Given the description of an element on the screen output the (x, y) to click on. 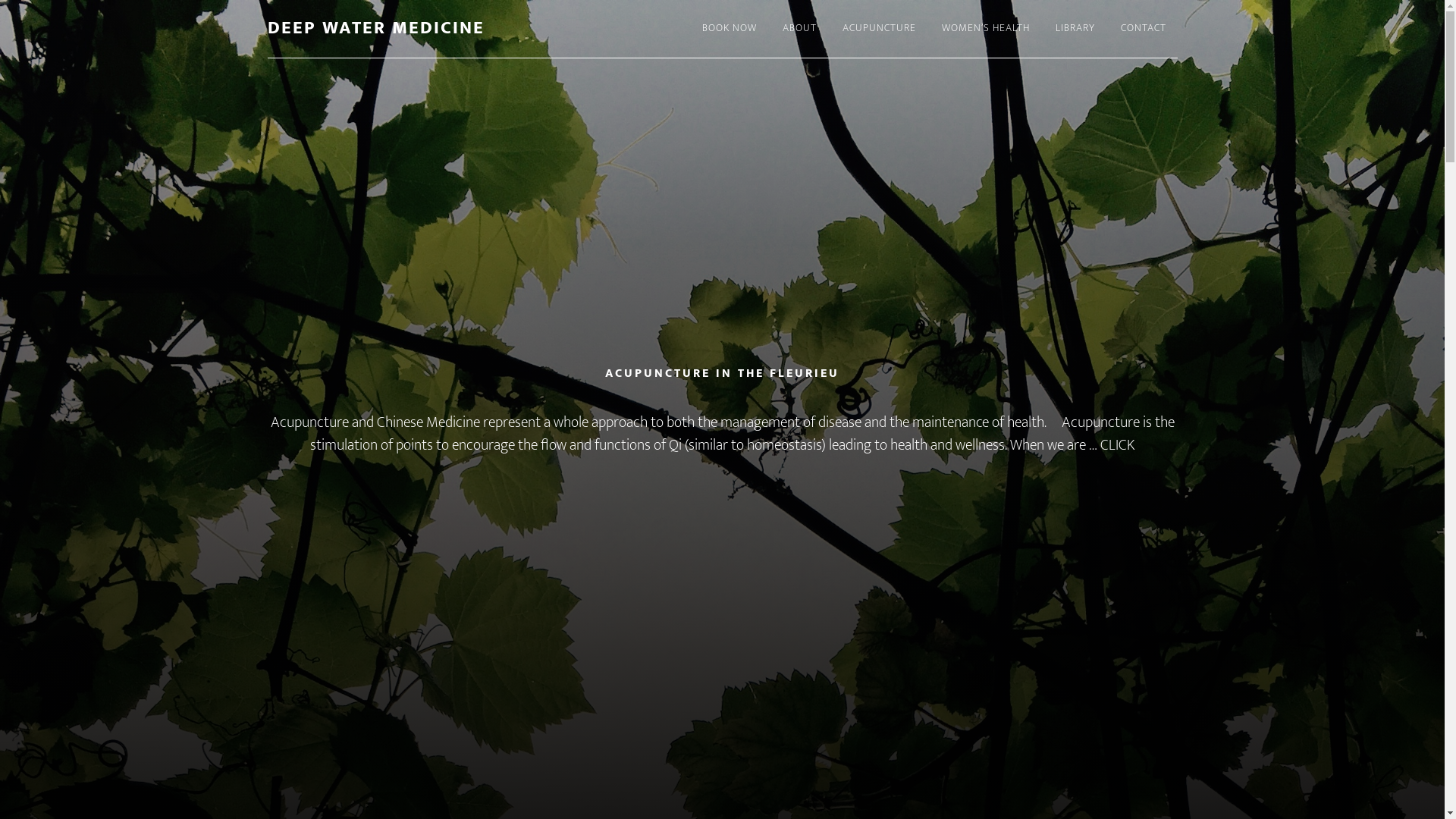
CONTACT Element type: text (1142, 28)
DEEP WATER MEDICINE Element type: text (374, 27)
BOOK NOW Element type: text (728, 28)
ACUPUNCTURE Element type: text (879, 28)
LIBRARY Element type: text (1074, 28)
CLICK Element type: text (1117, 445)
ABOUT Element type: text (798, 28)
